Given the description of an element on the screen output the (x, y) to click on. 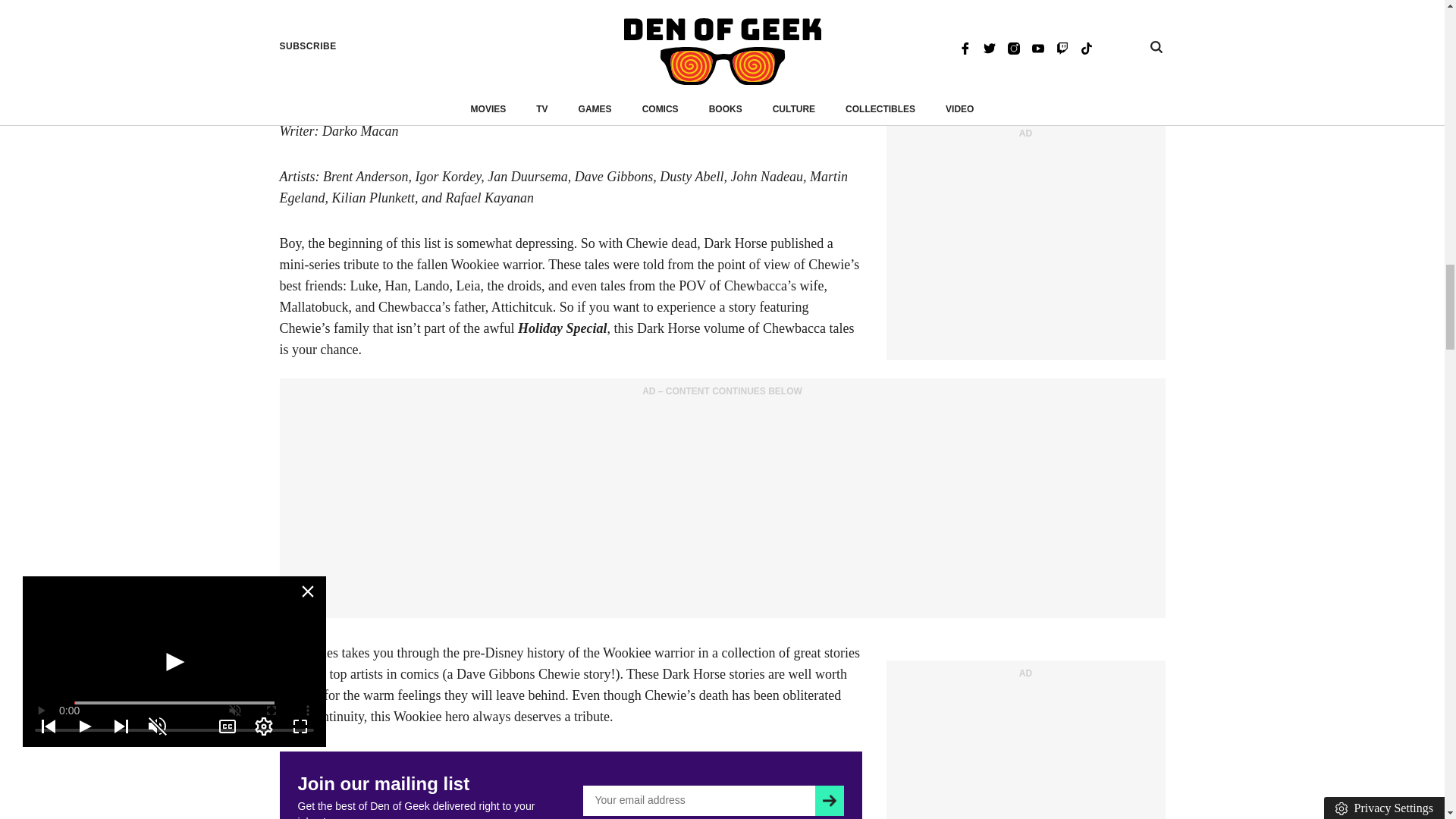
Subscribe (829, 800)
